Given the description of an element on the screen output the (x, y) to click on. 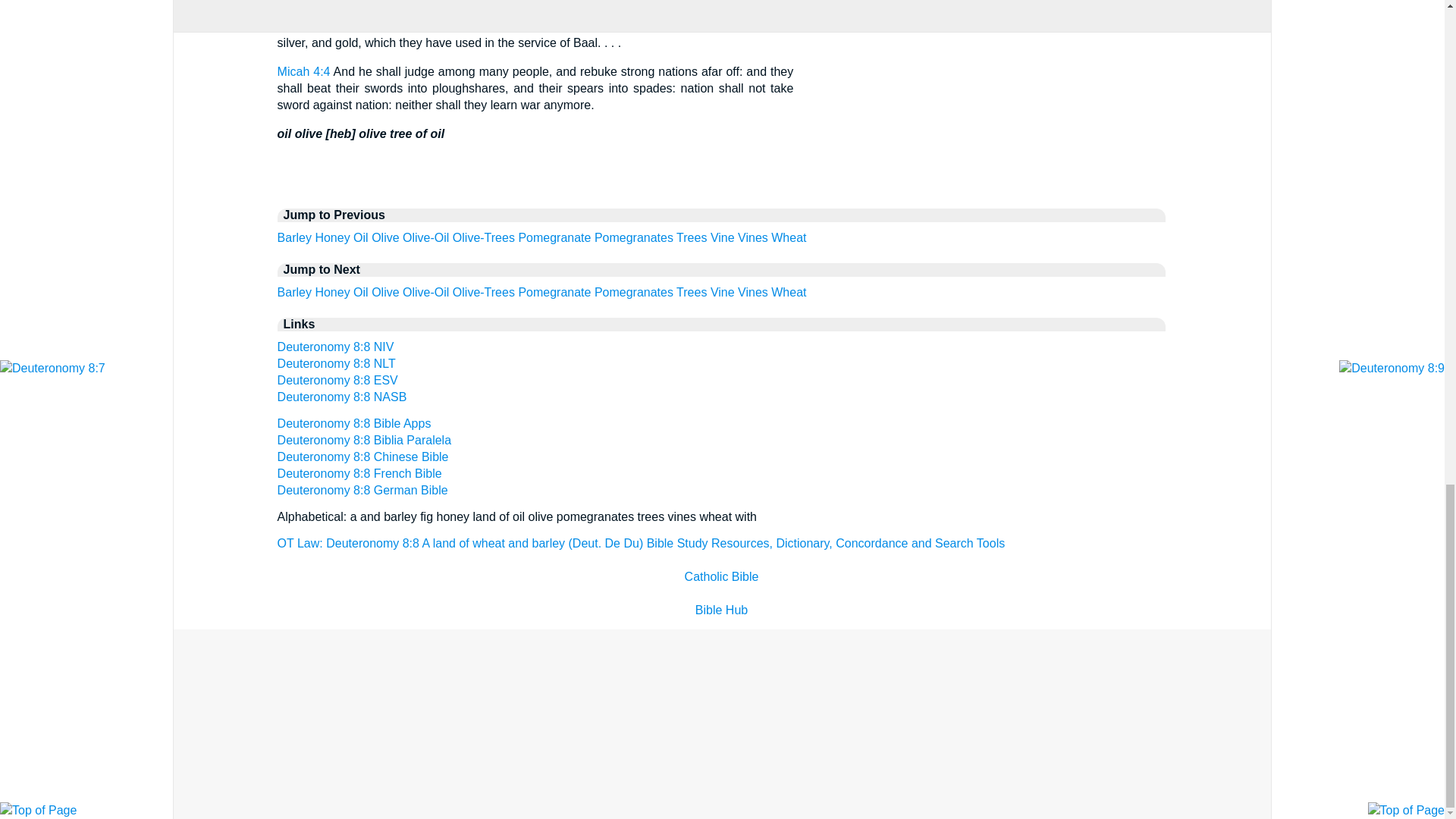
Pomegranates (633, 237)
Vines (753, 237)
Pomegranate (554, 237)
Trees (691, 237)
Wheat (788, 237)
Barley (294, 237)
Oil (360, 237)
Olive-Trees (483, 237)
Micah 4:4 (304, 71)
Barley (294, 291)
